Given the description of an element on the screen output the (x, y) to click on. 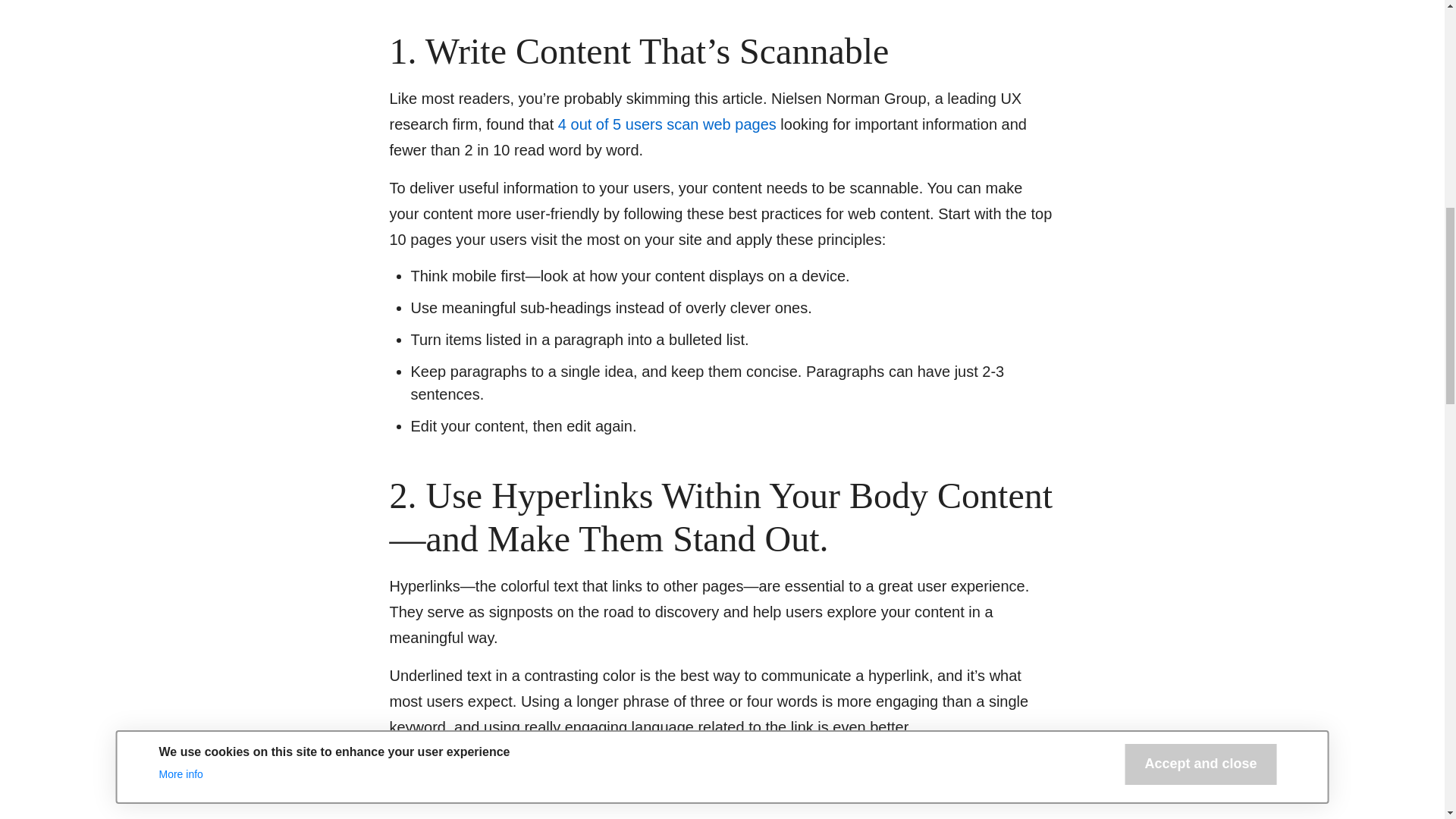
4 out of 5 users scan web pages (666, 124)
